Given the description of an element on the screen output the (x, y) to click on. 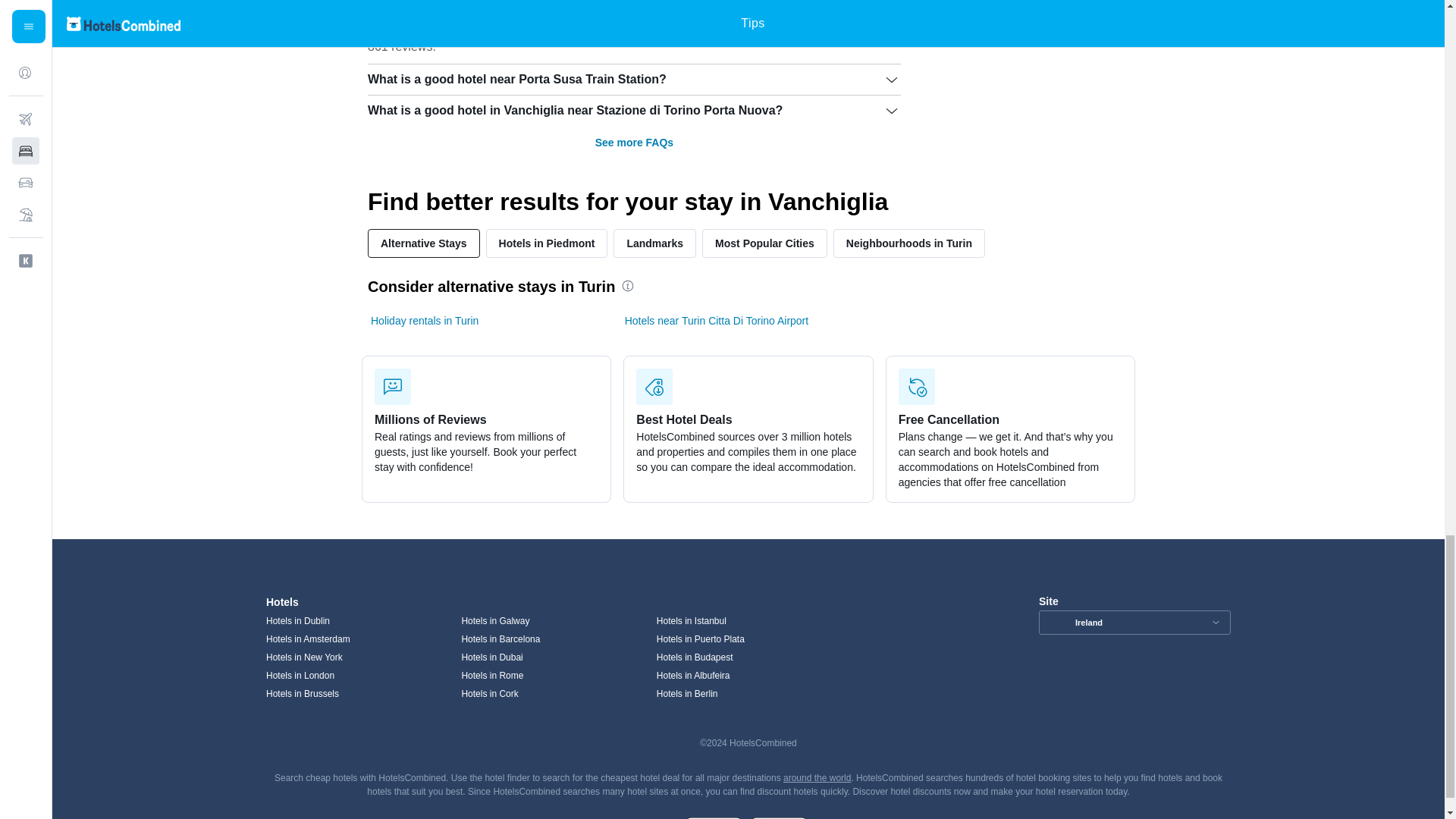
Landmarks (653, 243)
Hotels near Turin Citta Di Torino Airport (716, 320)
Hotels in Piedmont (547, 243)
Get it on Google Play (713, 816)
Holiday rentals in Turin (425, 320)
Neighbourhoods in Turin (908, 243)
Download on the App Store (778, 816)
Alternative Stays (424, 243)
Most Popular Cities (764, 243)
